Given the description of an element on the screen output the (x, y) to click on. 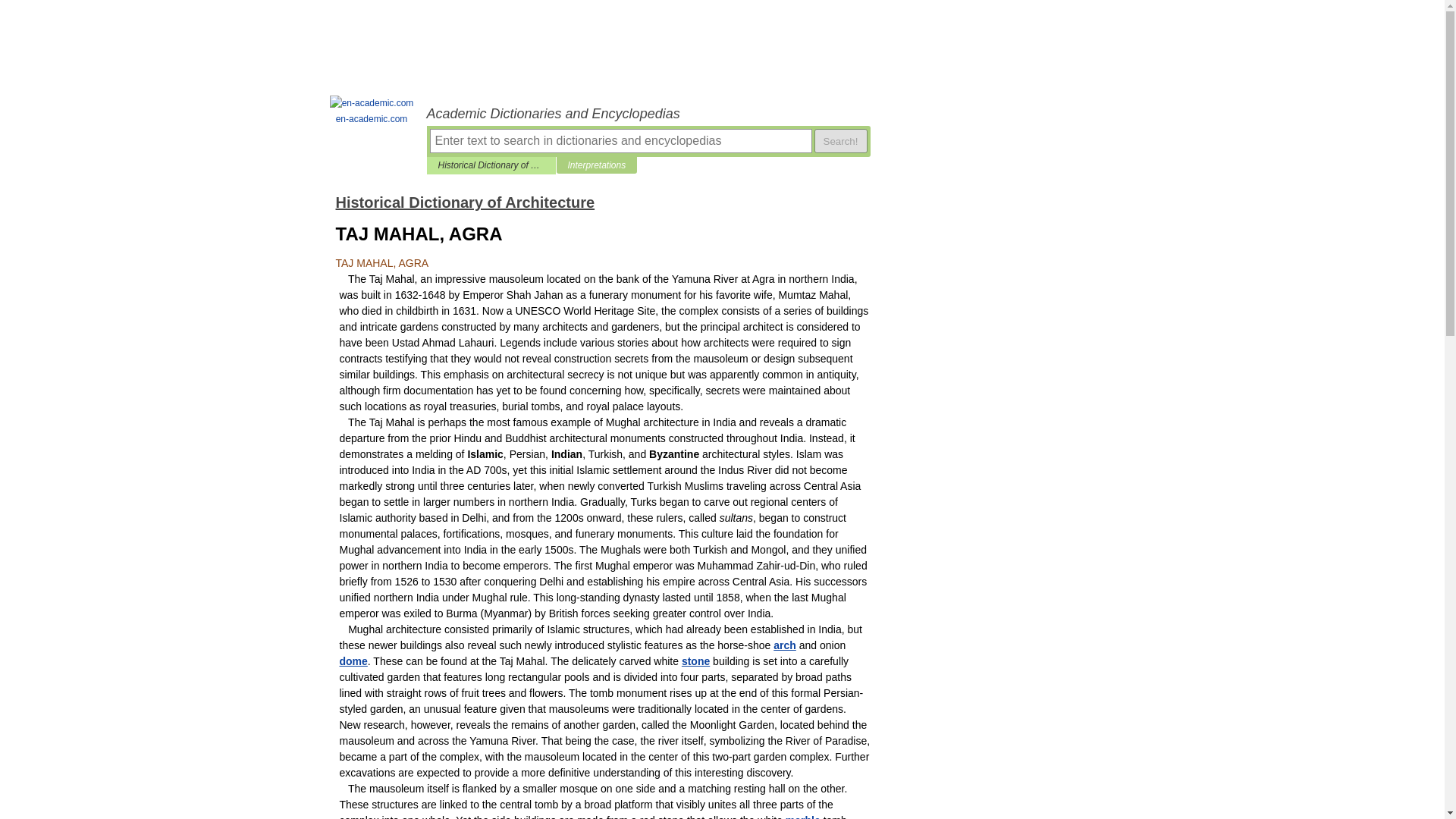
dome (353, 661)
marble (803, 816)
Historical Dictionary of Architecture (491, 165)
Academic Dictionaries and Encyclopedias (647, 114)
en-academic.com (371, 111)
Interpretations (596, 165)
stone (695, 661)
Search! (840, 140)
Historical Dictionary of Architecture (464, 202)
Enter text to search in dictionaries and encyclopedias (619, 140)
arch (784, 645)
